Given the description of an element on the screen output the (x, y) to click on. 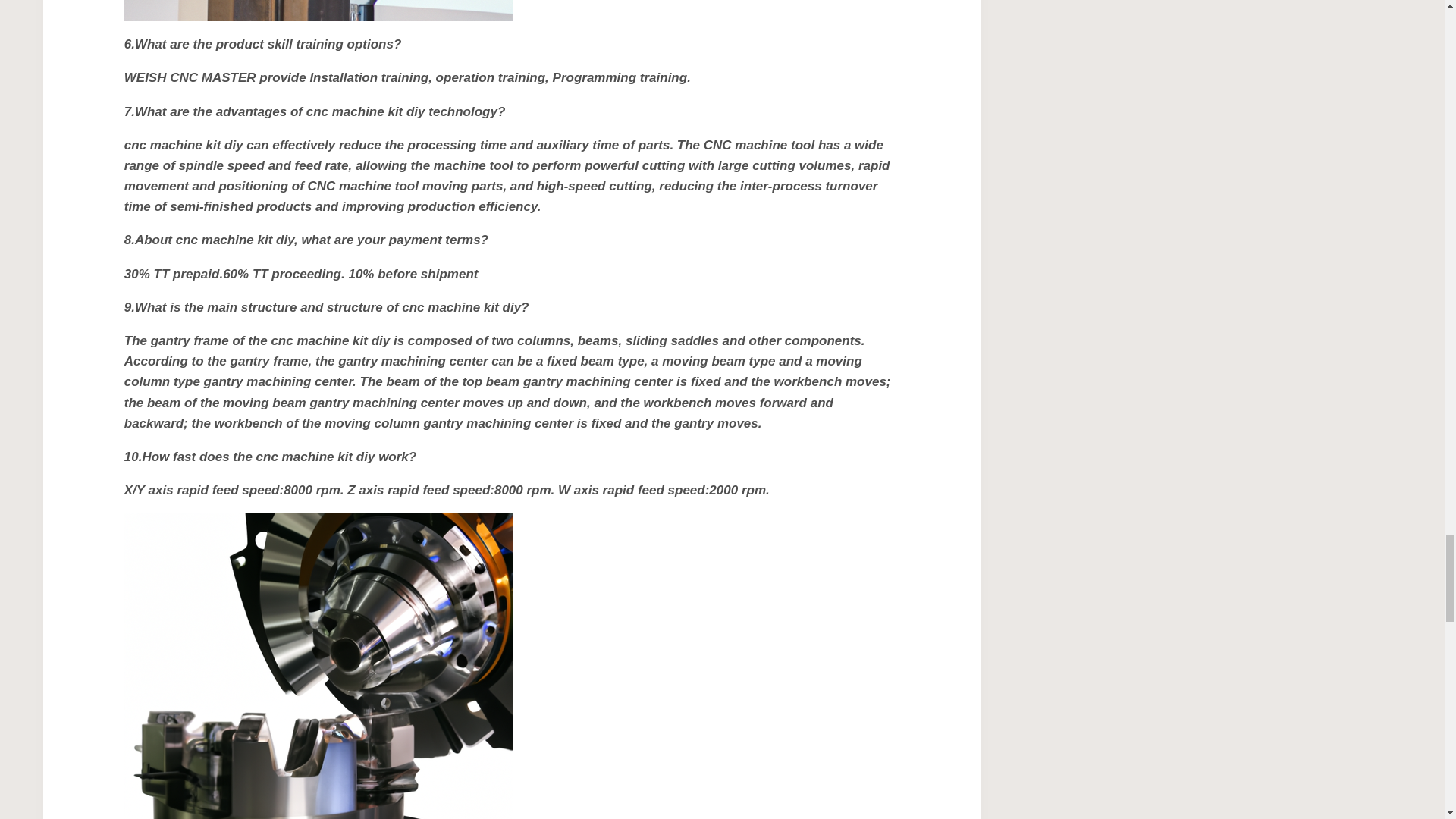
How fast does the cnc machine kit diy work? (317, 666)
What are the security features of cnc machine kit diy? (317, 10)
